Given the description of an element on the screen output the (x, y) to click on. 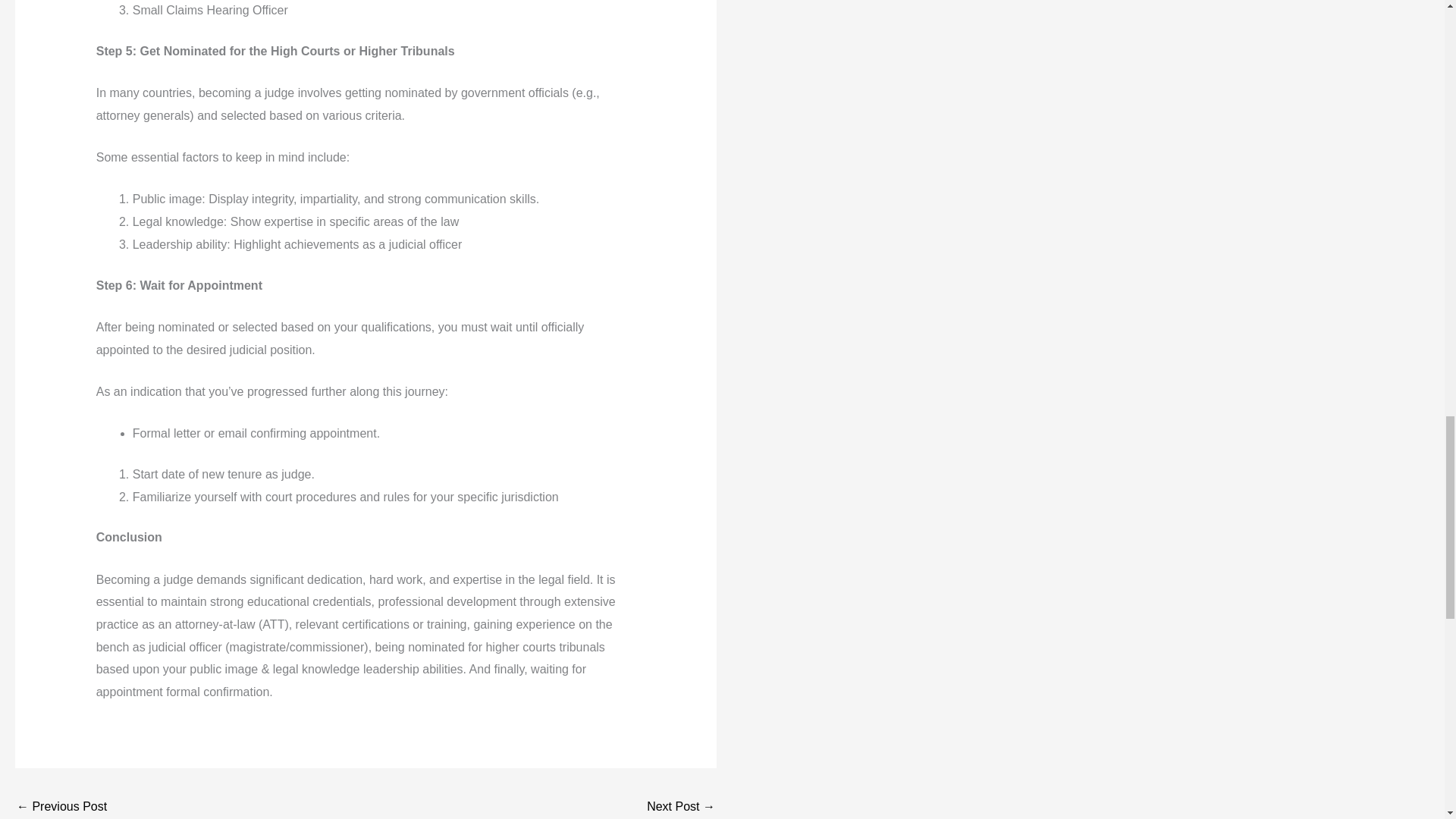
Games Like Borderlands (680, 806)
How To Leave Google Review (61, 806)
